Given the description of an element on the screen output the (x, y) to click on. 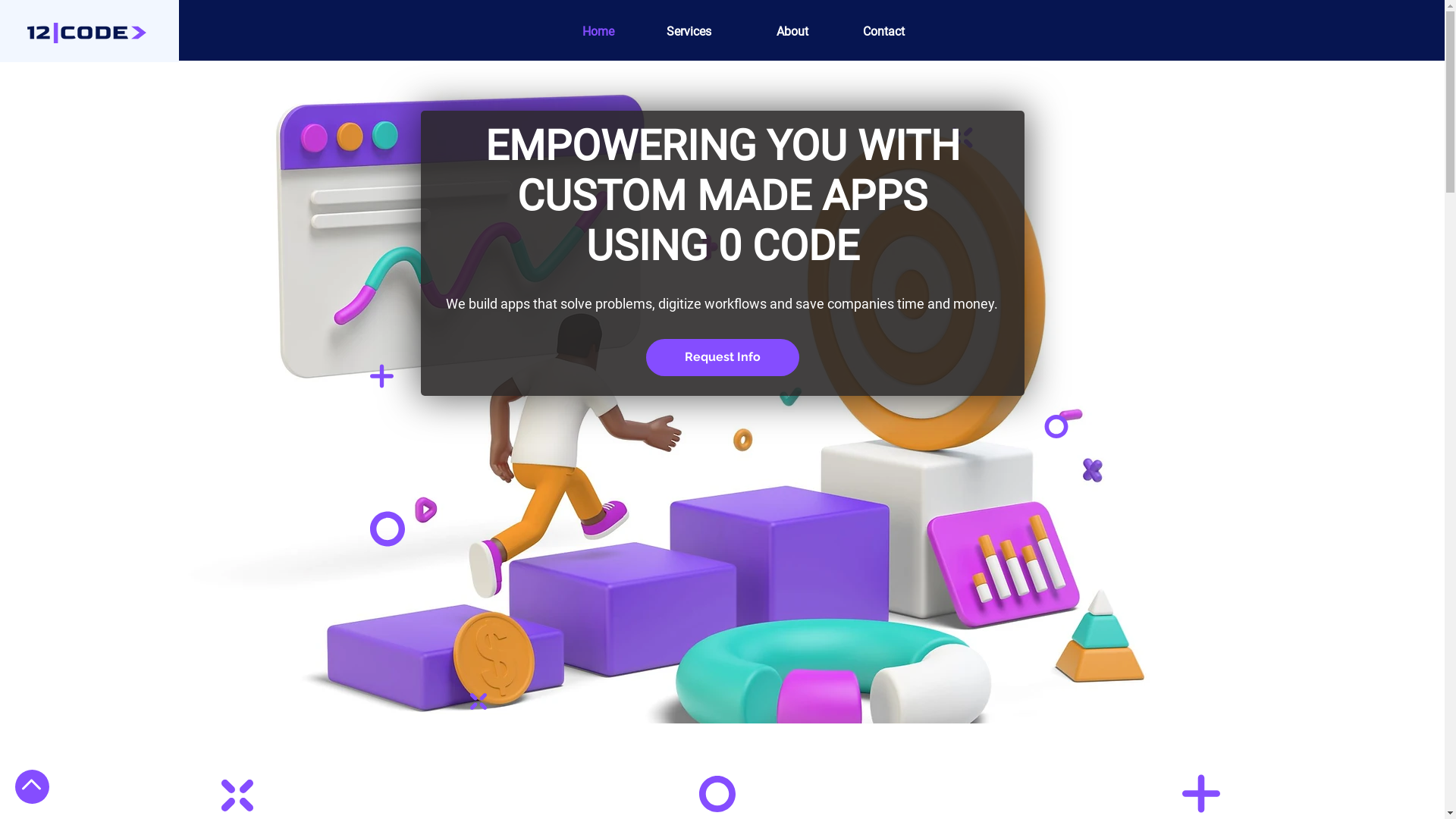
Services Element type: text (673, 31)
Request Info Element type: text (722, 357)
Contact Element type: text (867, 31)
Home Element type: text (576, 31)
About Element type: text (770, 31)
